Given the description of an element on the screen output the (x, y) to click on. 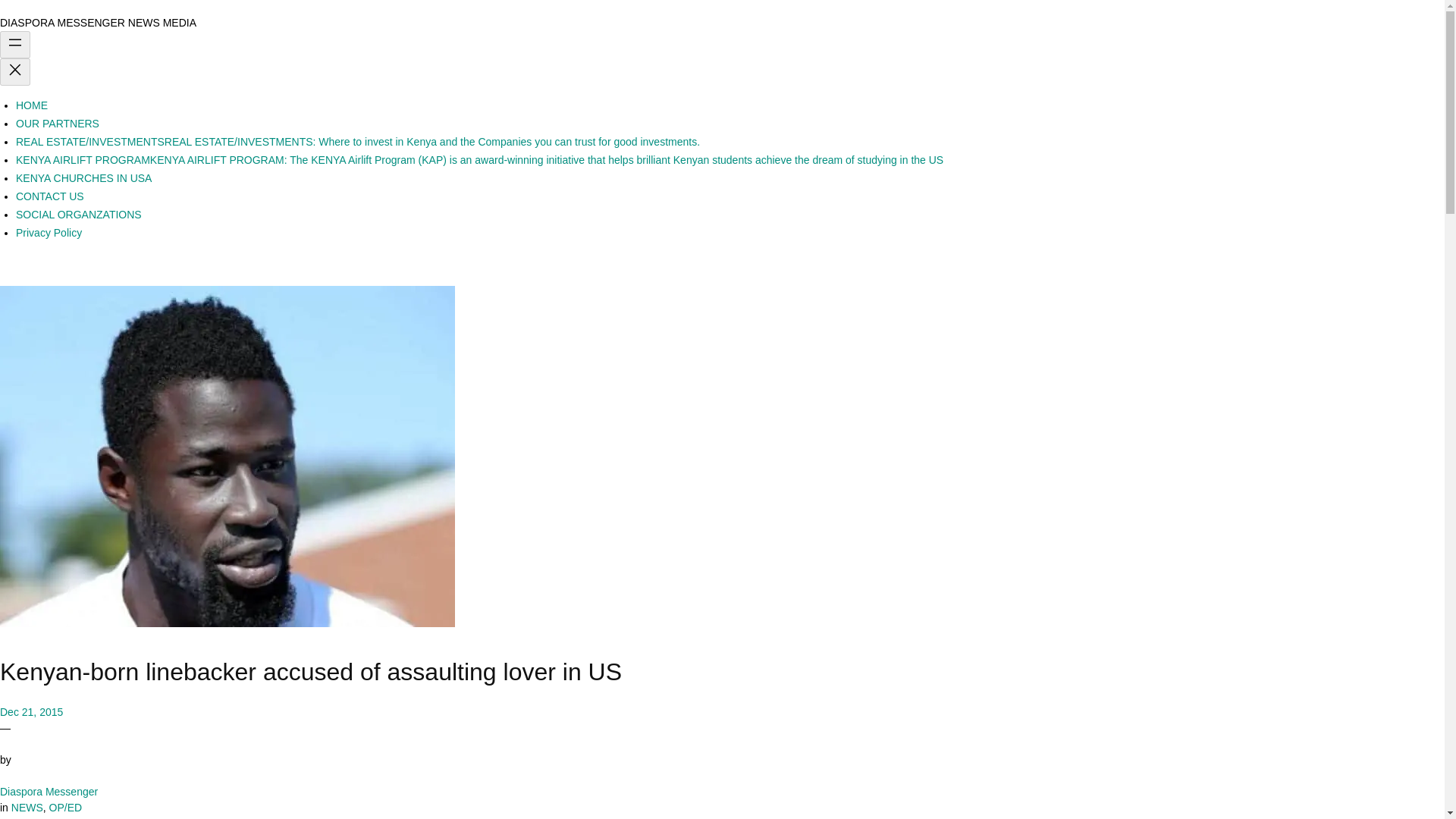
OUR PARTNERS (57, 123)
DIASPORA MESSENGER NEWS MEDIA (98, 22)
CONTACT US (50, 196)
NEWS (27, 807)
HOME (32, 105)
KENYA CHURCHES IN USA (83, 177)
Diaspora Messenger (48, 791)
SOCIAL ORGANZATIONS (78, 214)
Privacy Policy (48, 232)
Dec 21, 2015 (31, 711)
